Given the description of an element on the screen output the (x, y) to click on. 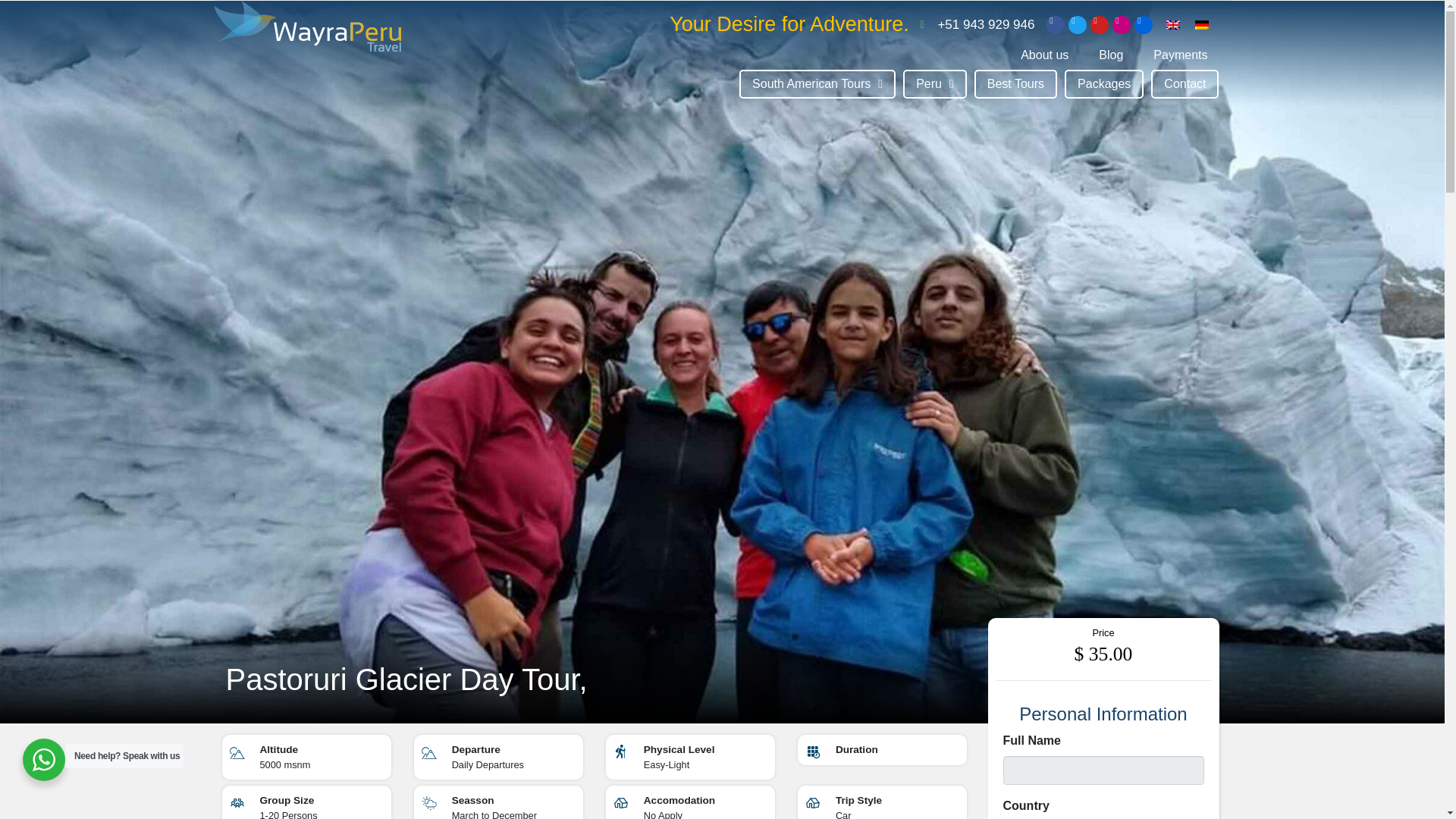
South American Tours (817, 83)
About us (1044, 54)
Peru (934, 83)
Blog (1110, 54)
Payments (1180, 54)
